Given the description of an element on the screen output the (x, y) to click on. 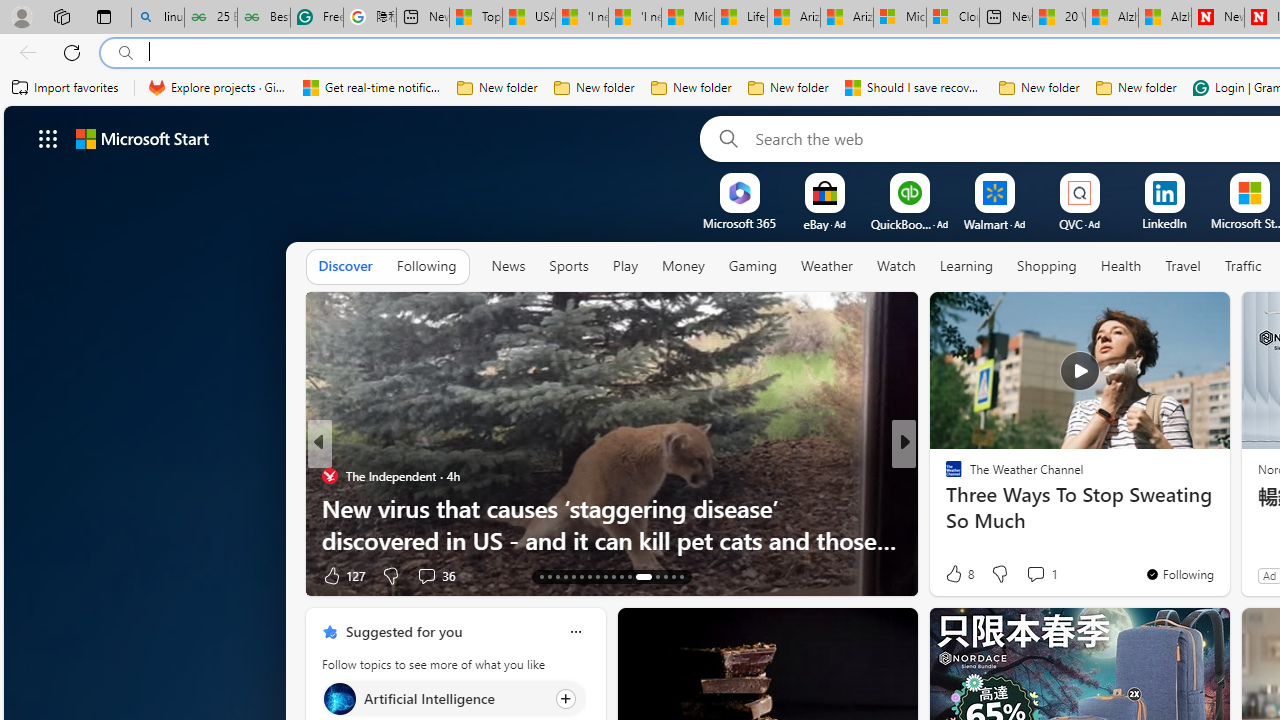
Best SSL Certificates Provider in India - GeeksforGeeks (264, 17)
AutomationID: tab-17 (573, 576)
25 Basic Linux Commands For Beginners - GeeksforGeeks (210, 17)
AutomationID: tab-13 (541, 576)
AutomationID: tab-21 (605, 576)
AutomationID: tab-29 (681, 576)
AutomationID: tab-19 (588, 576)
AutomationID: tab-27 (664, 576)
View comments 10 Comment (1051, 574)
